Given the description of an element on the screen output the (x, y) to click on. 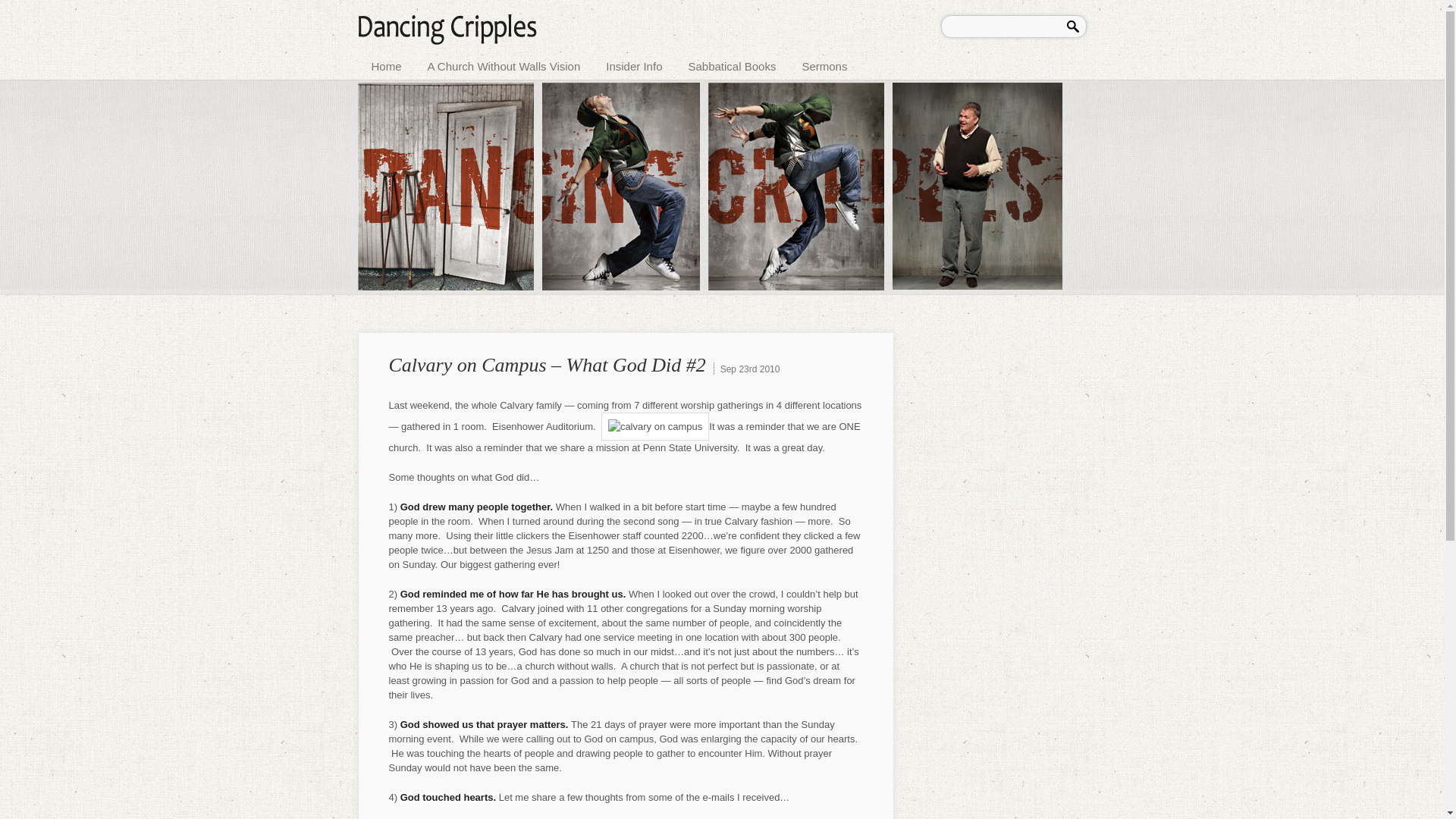
A Church Without Walls Vision (504, 64)
Search (1074, 23)
Sabbatical Books (731, 64)
Search (1074, 23)
Insider Info (633, 64)
Home (386, 64)
calvary on campus (655, 426)
Sermons (824, 64)
